Given the description of an element on the screen output the (x, y) to click on. 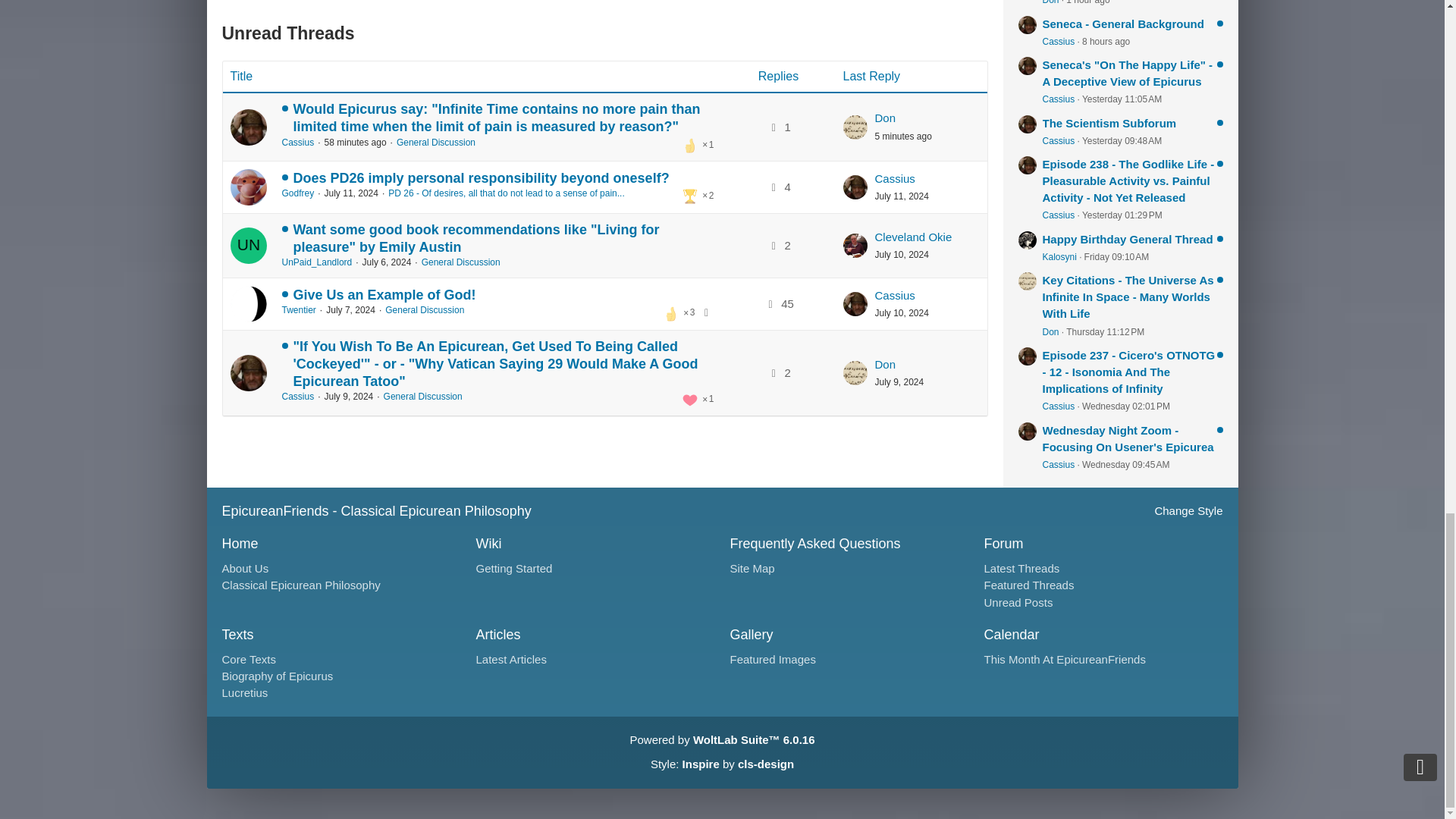
Double-Click to Mark This Thread Read (248, 303)
Double-Click to Mark This Thread Read (248, 186)
Double-Click to Mark This Thread Read (248, 372)
Double-Click to Mark This Thread Read (248, 245)
Double-Click to Mark This Thread Read (248, 126)
